Given the description of an element on the screen output the (x, y) to click on. 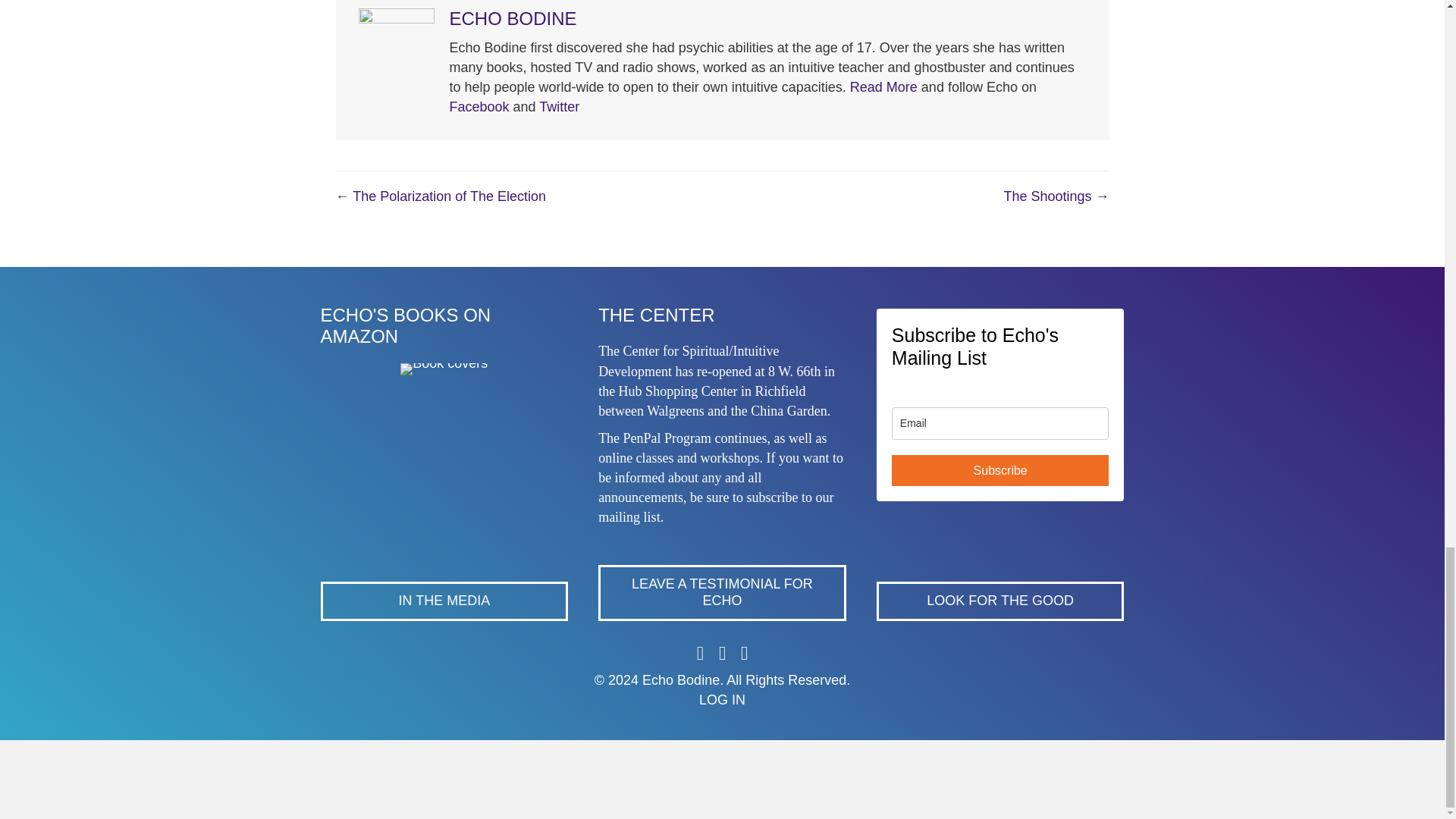
LOG IN (721, 699)
6-3-2014-3-31-02-PM (443, 369)
Twitter (558, 106)
LEAVE A TESTIMONIAL FOR ECHO (721, 592)
Read More (883, 87)
IN THE MEDIA (443, 600)
Subscribe (1000, 470)
LOOK FOR THE GOOD (1000, 600)
Facebook (478, 106)
